Given the description of an element on the screen output the (x, y) to click on. 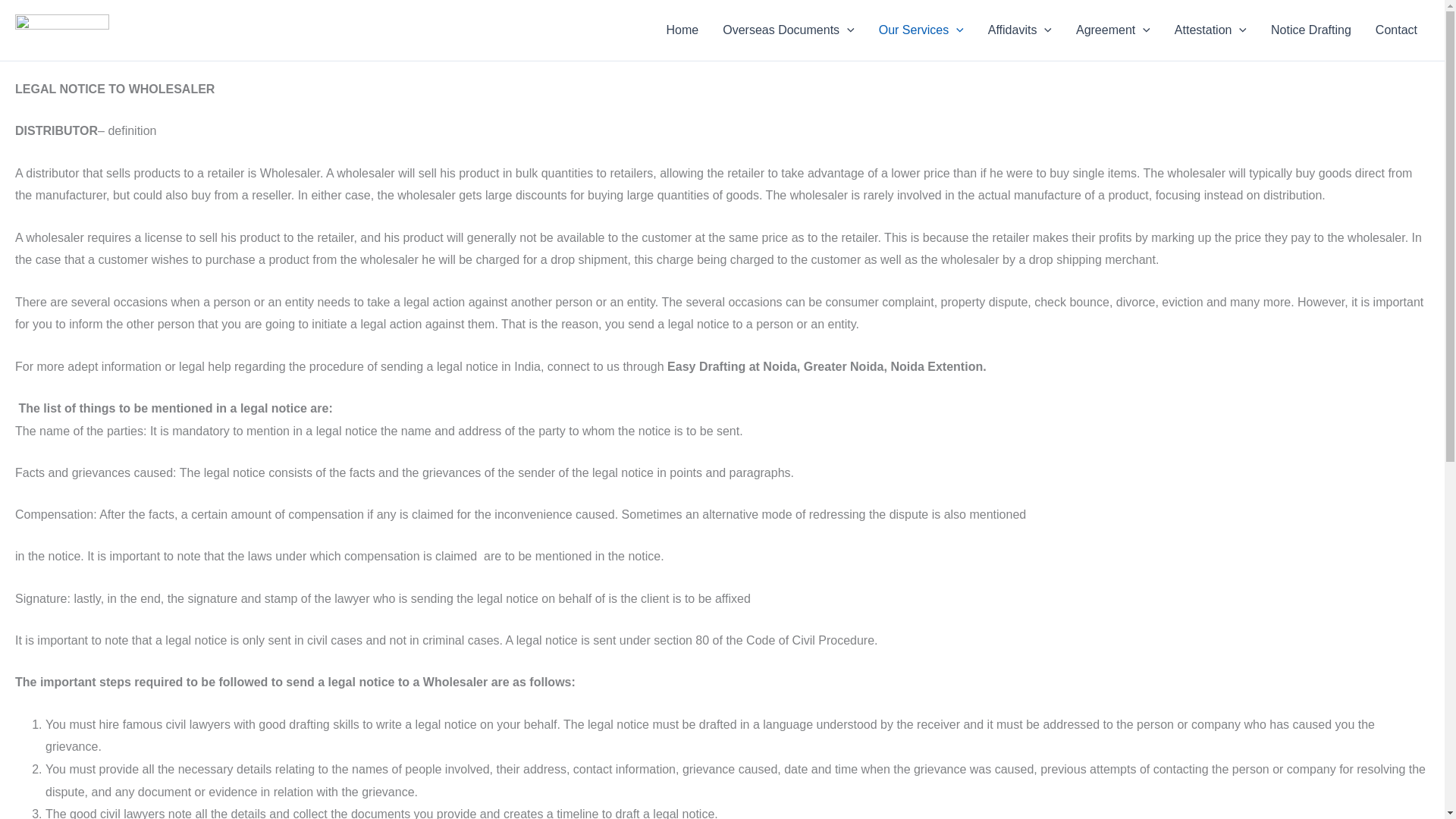
Overseas Documents (788, 30)
Our Services (920, 30)
Home (682, 30)
